Given the description of an element on the screen output the (x, y) to click on. 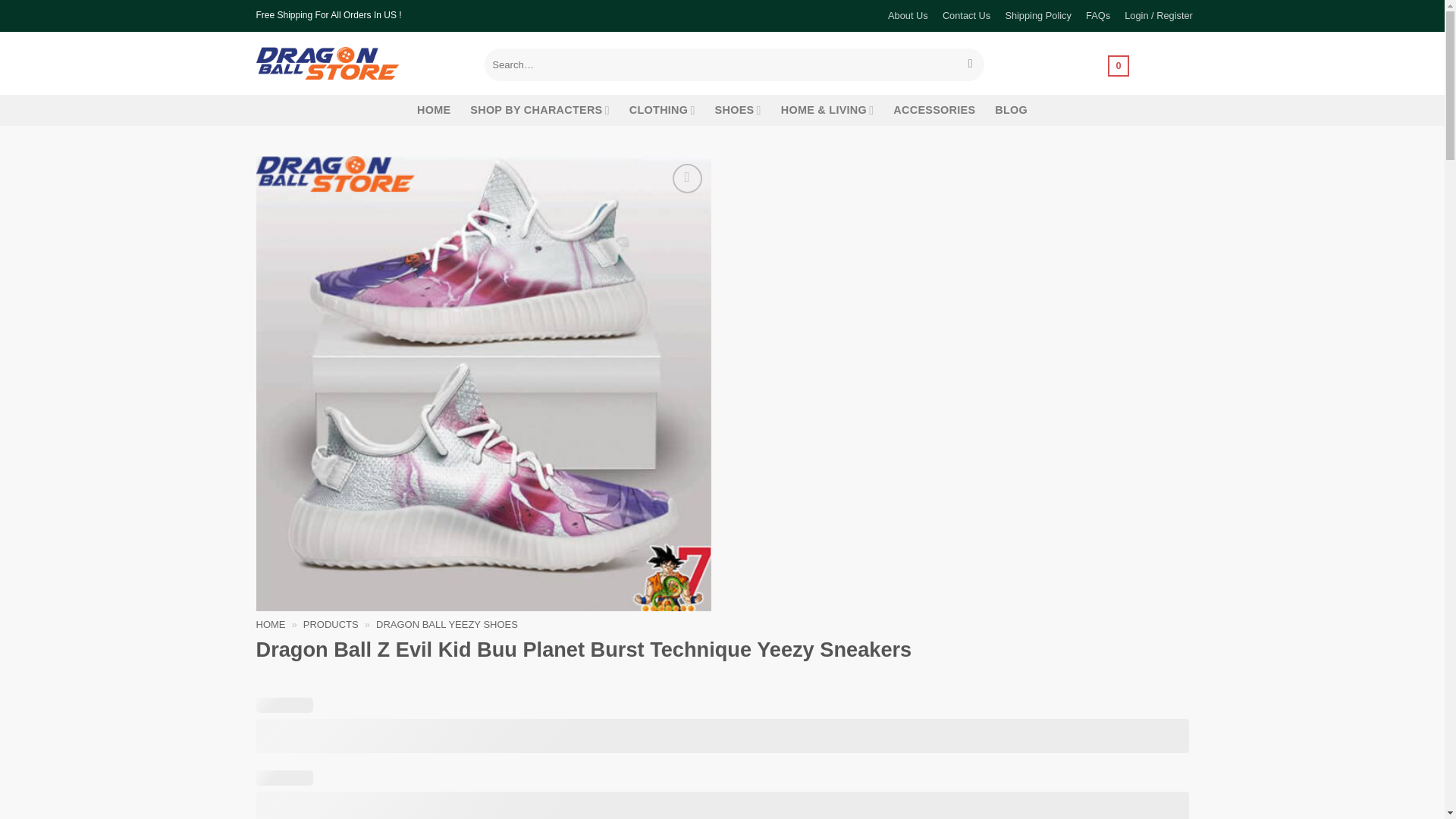
Contact Us (965, 15)
About Us (907, 15)
Shipping Policy (1037, 15)
SHOP BY CHARACTERS (540, 110)
FAQs (1097, 15)
0 (1118, 64)
Login (1158, 15)
Cart (1118, 64)
CLOTHING (661, 110)
Search (970, 64)
HOME (432, 110)
Zoom (686, 178)
